Given the description of an element on the screen output the (x, y) to click on. 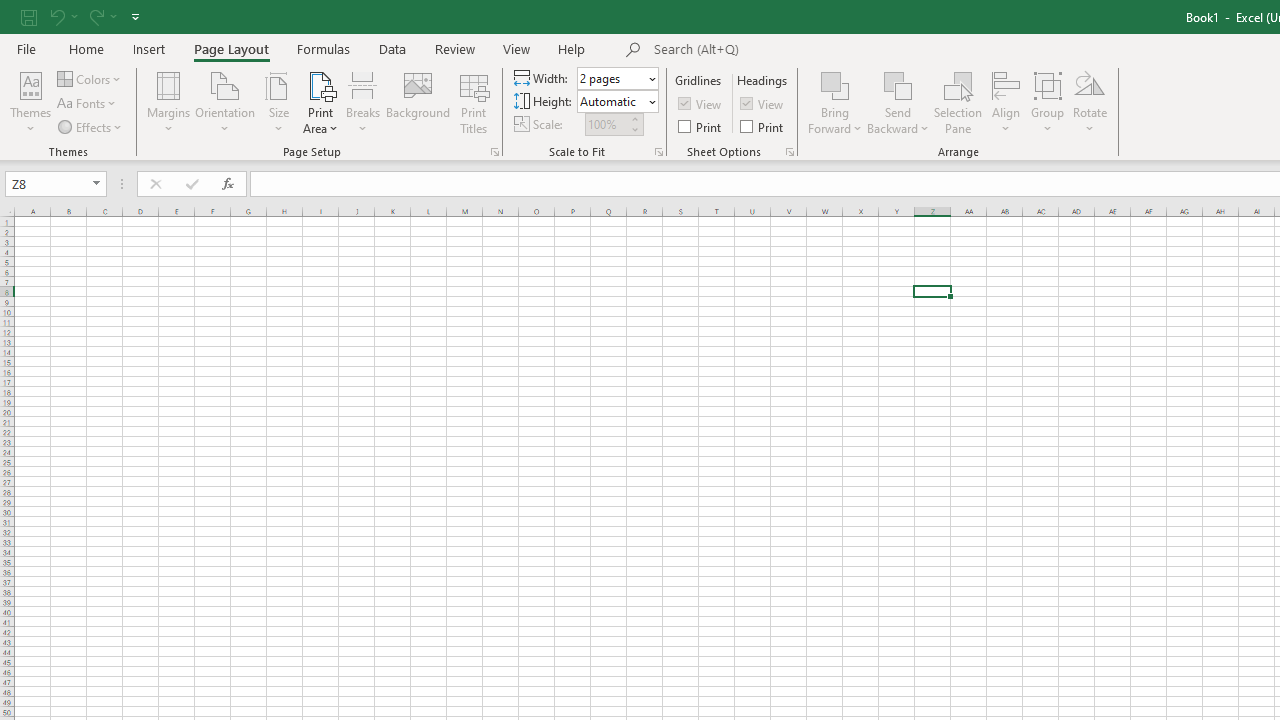
Height (611, 101)
Group (1047, 102)
Themes (30, 102)
Print Area (320, 102)
Bring Forward (835, 102)
Background... (418, 102)
Scale (605, 124)
Sheet Options (789, 151)
Print Titles (474, 102)
